Given the description of an element on the screen output the (x, y) to click on. 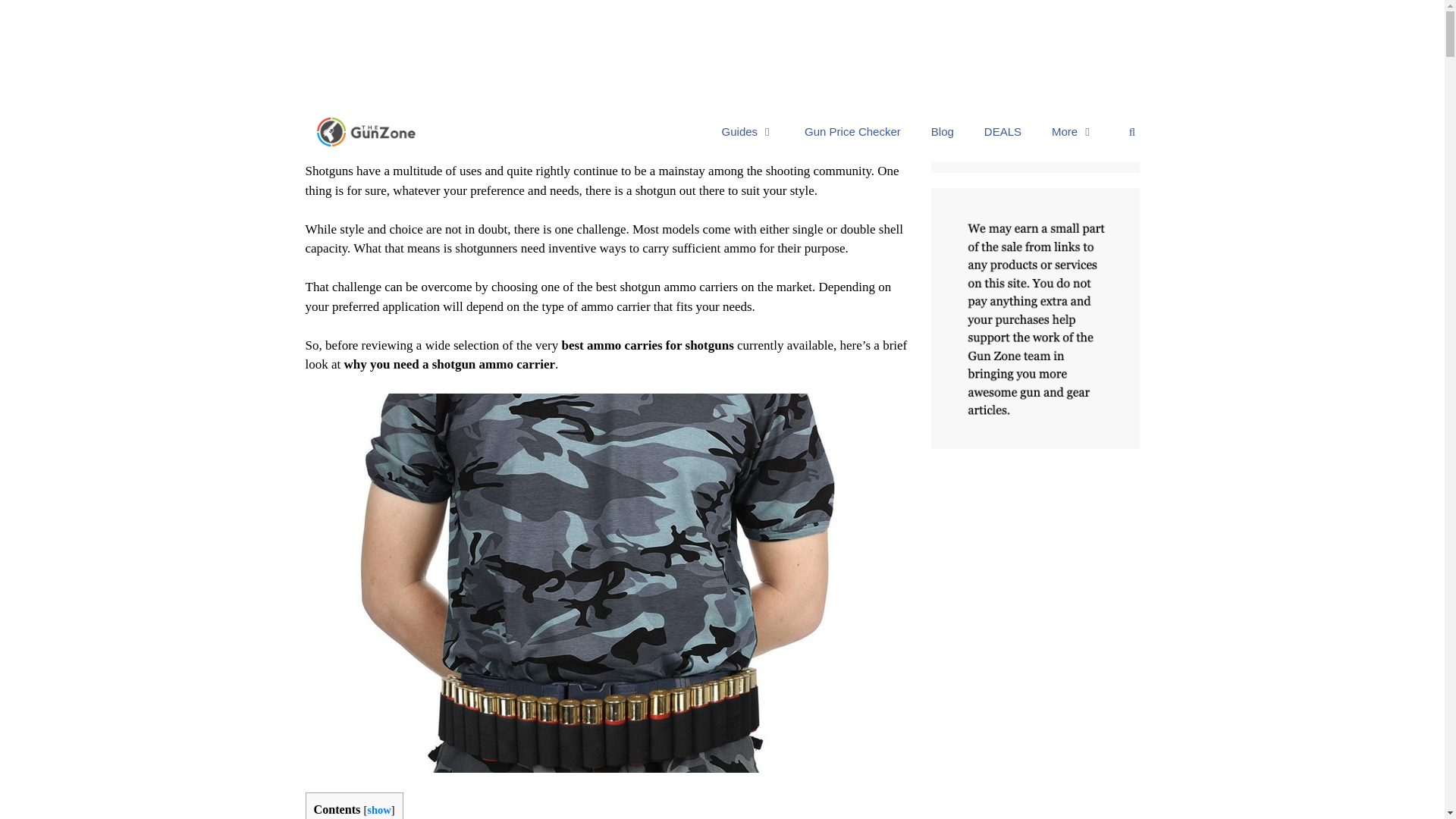
DEALS (1002, 131)
Search for: (1034, 124)
TheGunZone (366, 131)
Gun Price Checker (852, 131)
View all posts by Gary McCloud (413, 127)
Guides (748, 131)
show (378, 809)
TheGunZone (369, 131)
Gary McCloud (413, 127)
More (1072, 131)
